Given the description of an element on the screen output the (x, y) to click on. 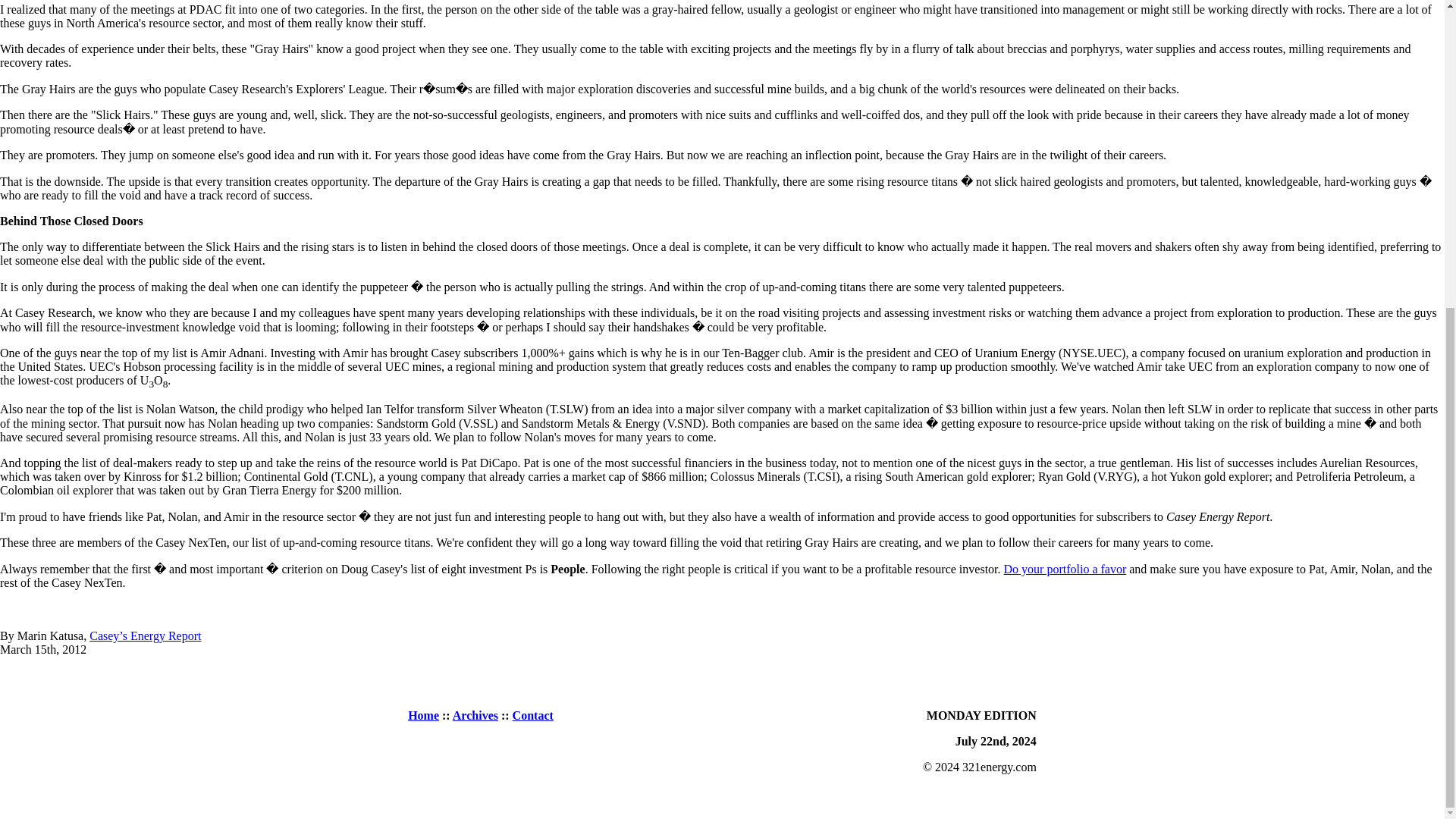
Do your portfolio a favor (1065, 568)
Archives (474, 715)
Visit 321gold.com (1390, 811)
Contact (532, 715)
Home (423, 715)
